Given the description of an element on the screen output the (x, y) to click on. 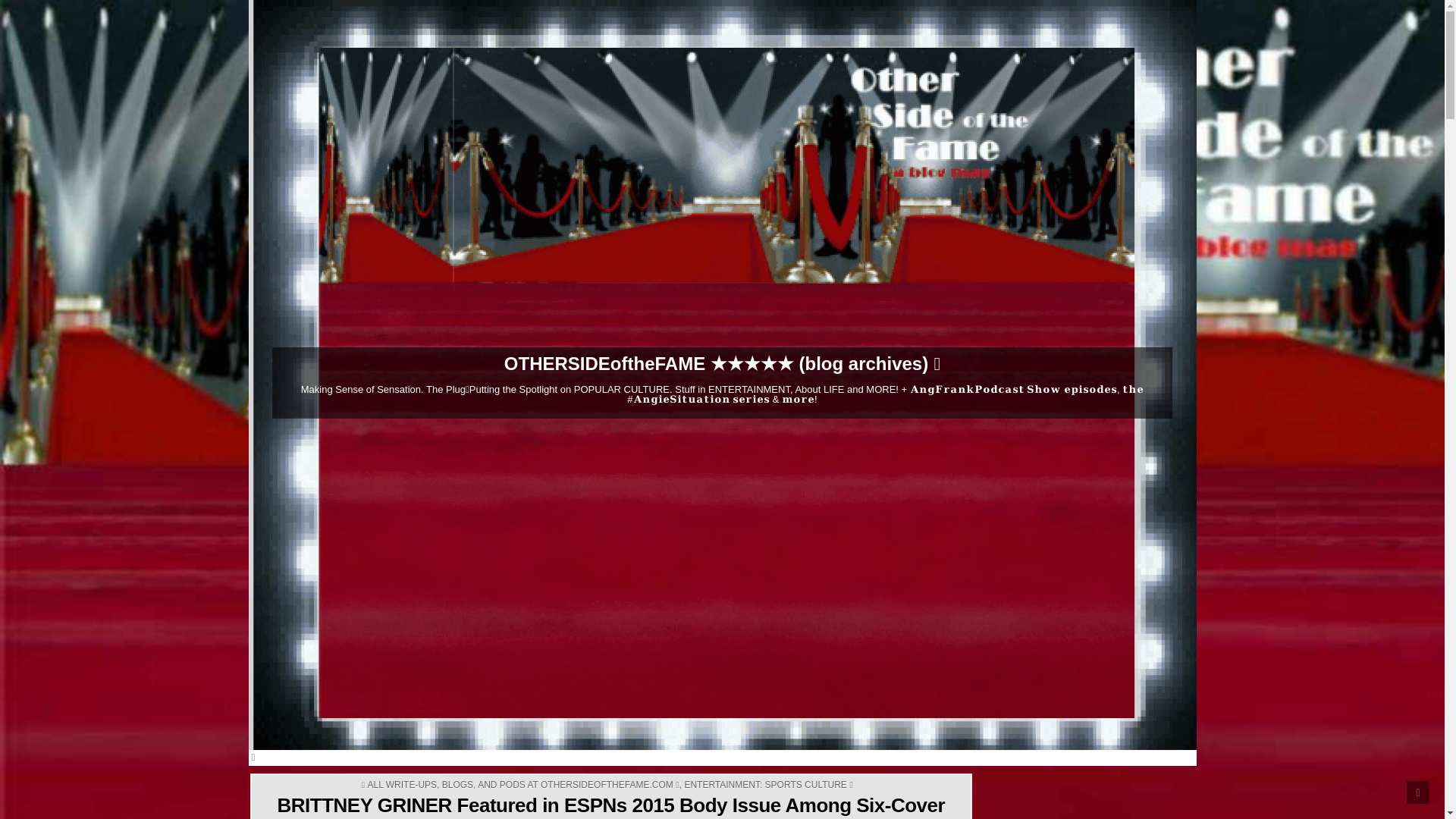
ENTERTAINMENT: SPORTS CULTURE (767, 784)
ALL WRITE-UPS, BLOGS, AND PODS AT OTHERSIDEOFTHEFAME.COM (523, 784)
SCROLL TO TOP (1417, 792)
